Given the description of an element on the screen output the (x, y) to click on. 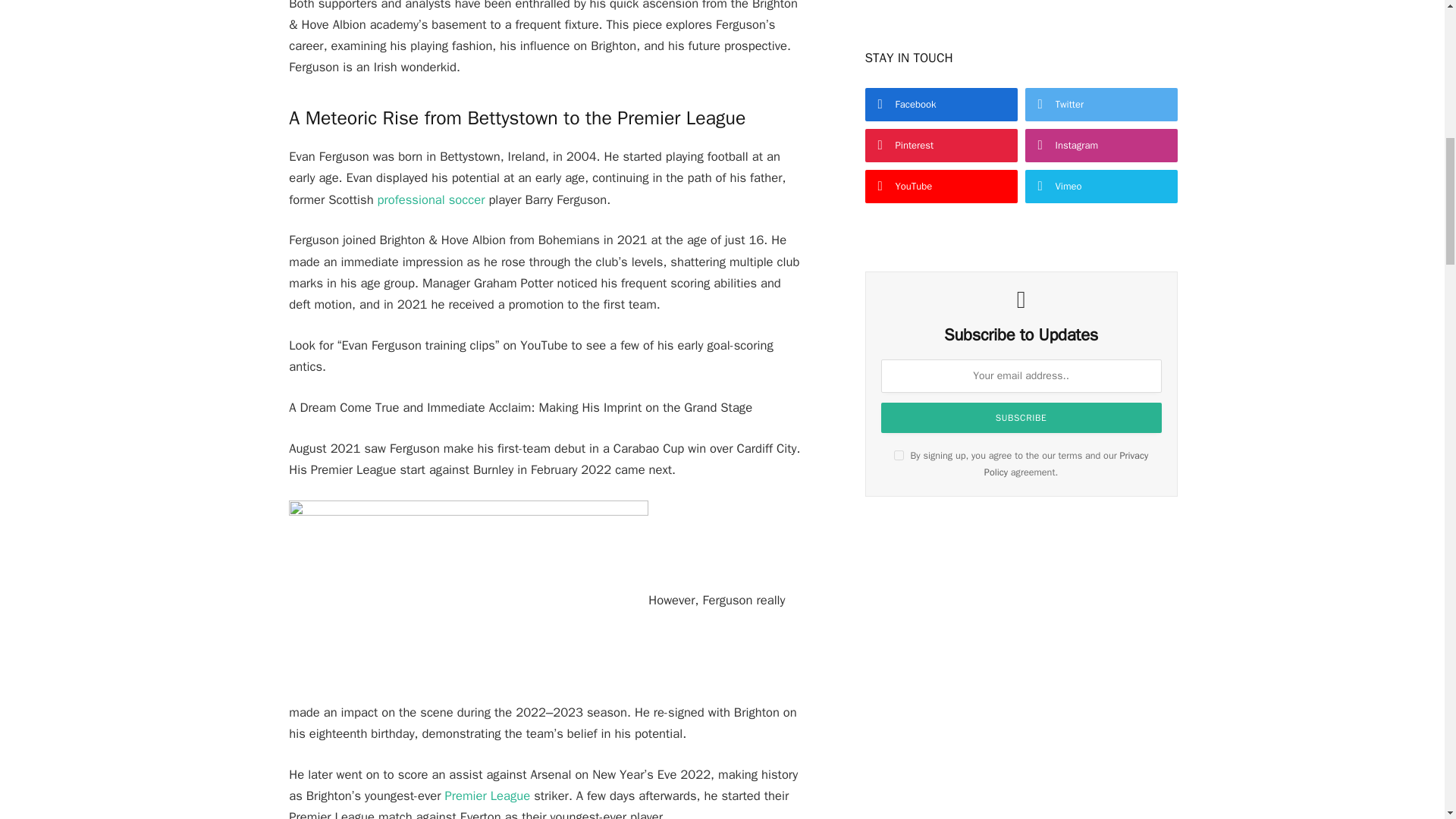
Subscribe (1020, 417)
on (898, 455)
